Given the description of an element on the screen output the (x, y) to click on. 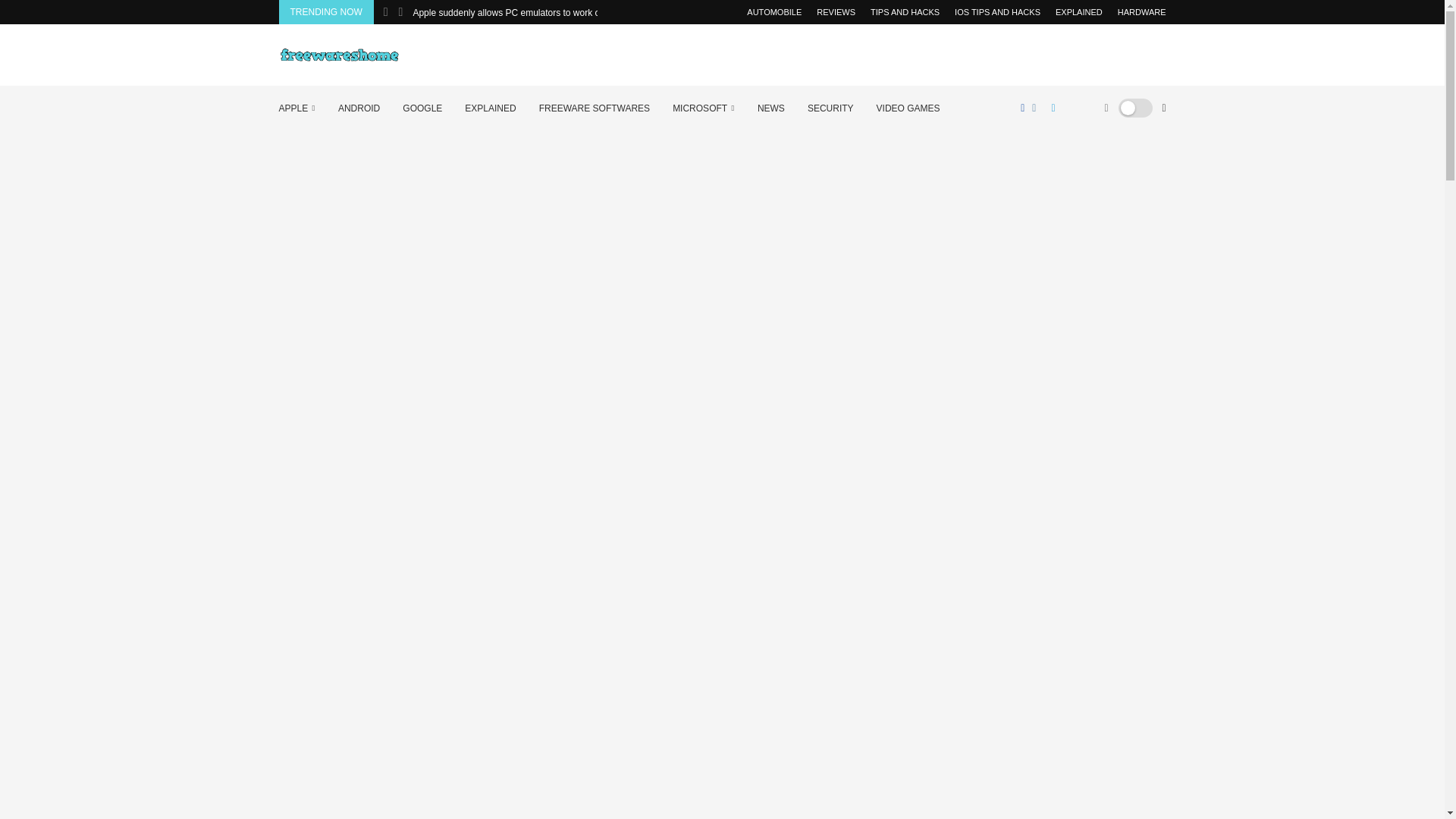
EXPLAINED (489, 108)
IOS TIPS AND HACKS (998, 12)
VIDEO GAMES (908, 108)
ANDROID (358, 108)
HARDWARE (1142, 12)
GOOGLE (422, 108)
TIPS AND HACKS (904, 12)
APPLE (297, 108)
NEWS (770, 108)
FREEWARE SOFTWARES (593, 108)
REVIEWS (836, 12)
SECURITY (830, 108)
AUTOMOBILE (774, 12)
EXPLAINED (1078, 12)
Apple suddenly allows PC emulators to work on... (511, 12)
